Given the description of an element on the screen output the (x, y) to click on. 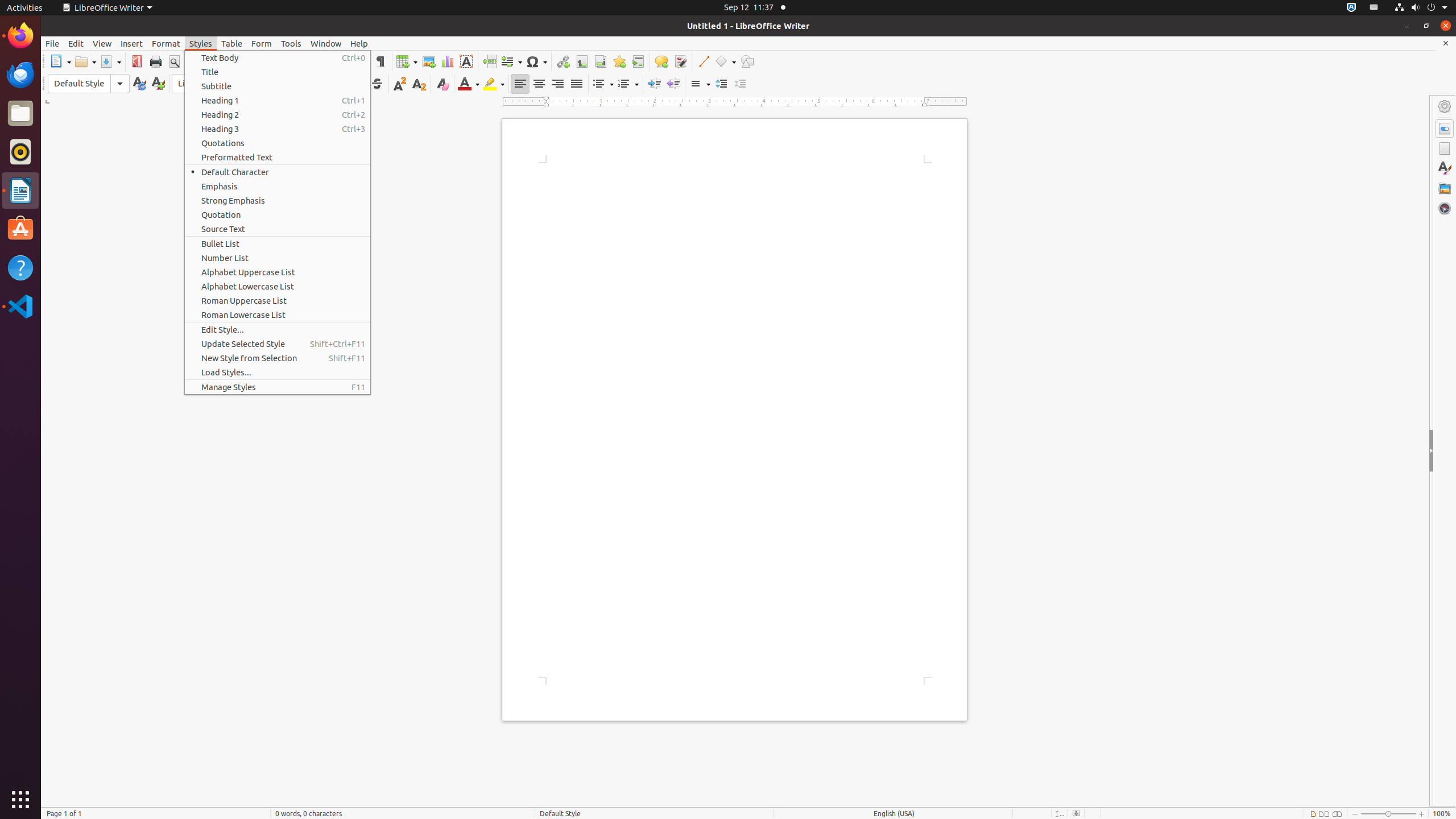
Table Element type: push-button (406, 61)
Draw Functions Element type: push-button (746, 61)
Alphabet Uppercase List Element type: radio-menu-item (277, 272)
Update Element type: push-button (138, 83)
Load Styles... Element type: menu-item (277, 372)
